Given the description of an element on the screen output the (x, y) to click on. 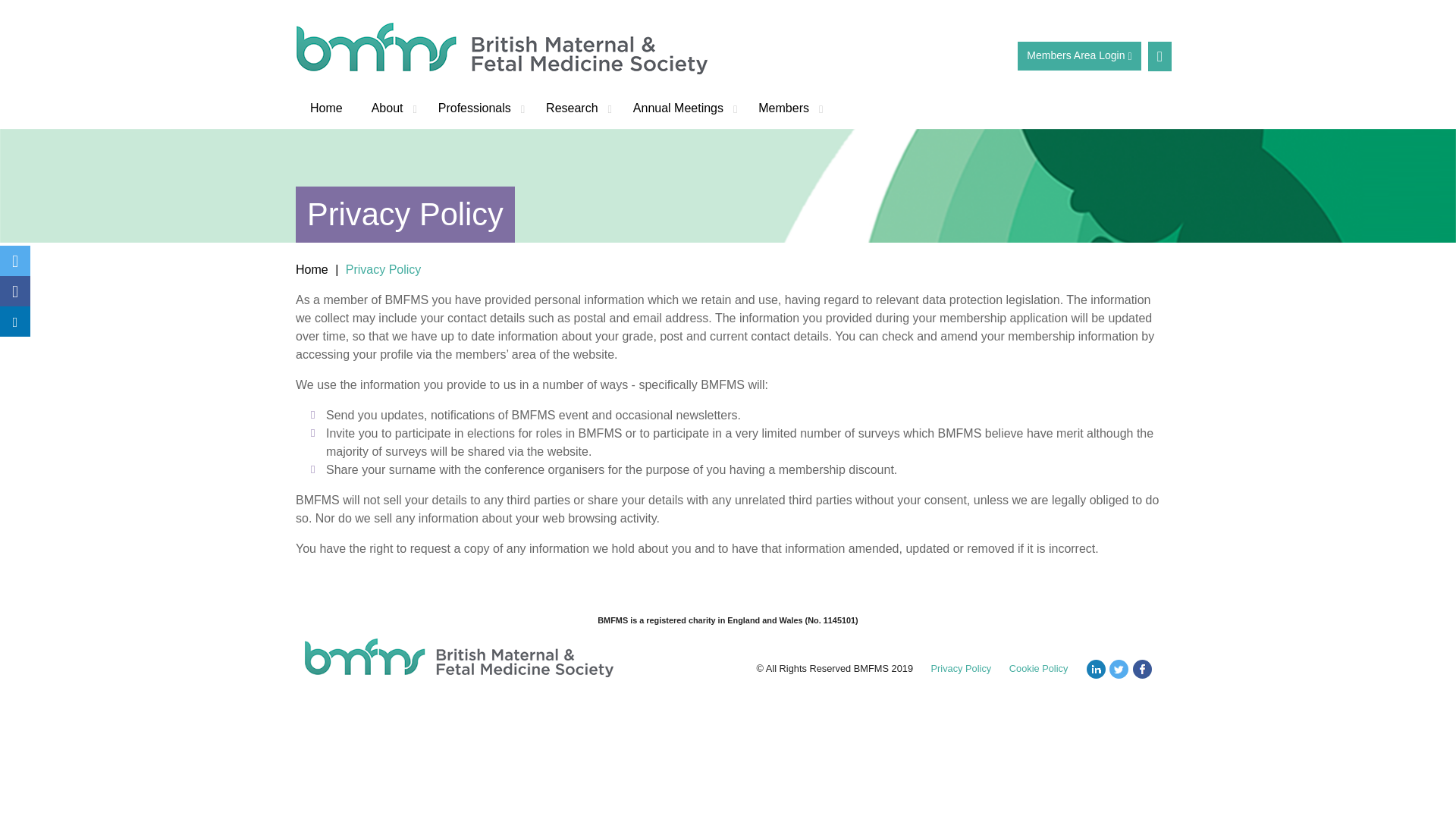
Professionals (477, 108)
Research (574, 108)
Home (325, 108)
About (389, 108)
Twitter (15, 260)
LinkedIn (15, 321)
Login to BMFMS (1078, 55)
Facebook (15, 291)
Members Area Login (1078, 55)
Skip to main content (21, 21)
